Given the description of an element on the screen output the (x, y) to click on. 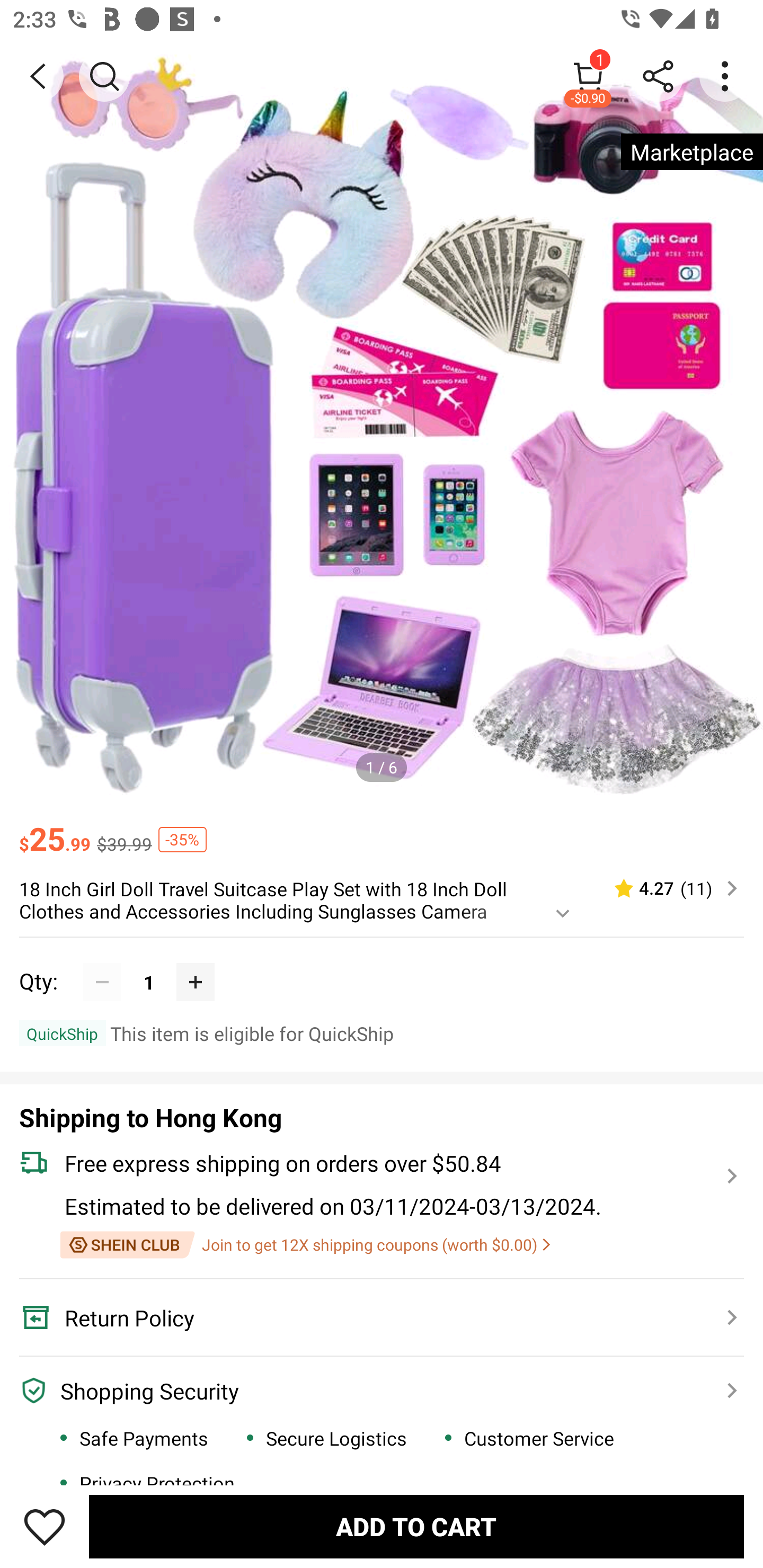
PHOTOS Marketplace 1 / 6 (381, 419)
BACK (38, 75)
1 -$0.90 (588, 75)
1 / 6 (381, 766)
$25.99 $39.99 -35% (381, 830)
4.27 (11) (667, 887)
Qty: 1 (381, 962)
  QuickShip   This item is eligible for QuickShip (381, 1032)
Join to get 12X shipping coupons (worth $0.00) (305, 1244)
Return Policy (370, 1317)
ADD TO CART (416, 1526)
Save (44, 1526)
